Given the description of an element on the screen output the (x, y) to click on. 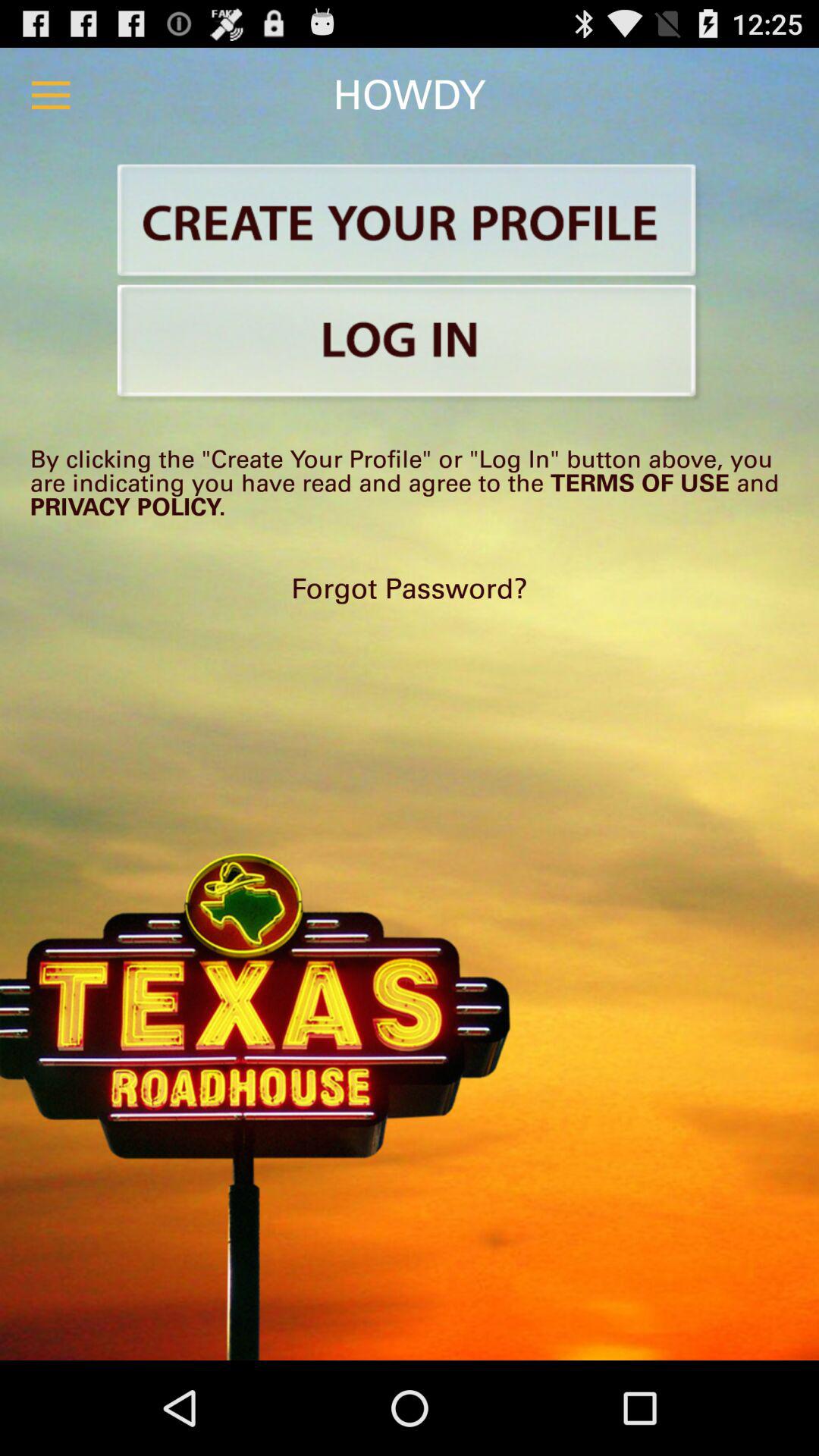
click by clicking the (409, 482)
